Given the description of an element on the screen output the (x, y) to click on. 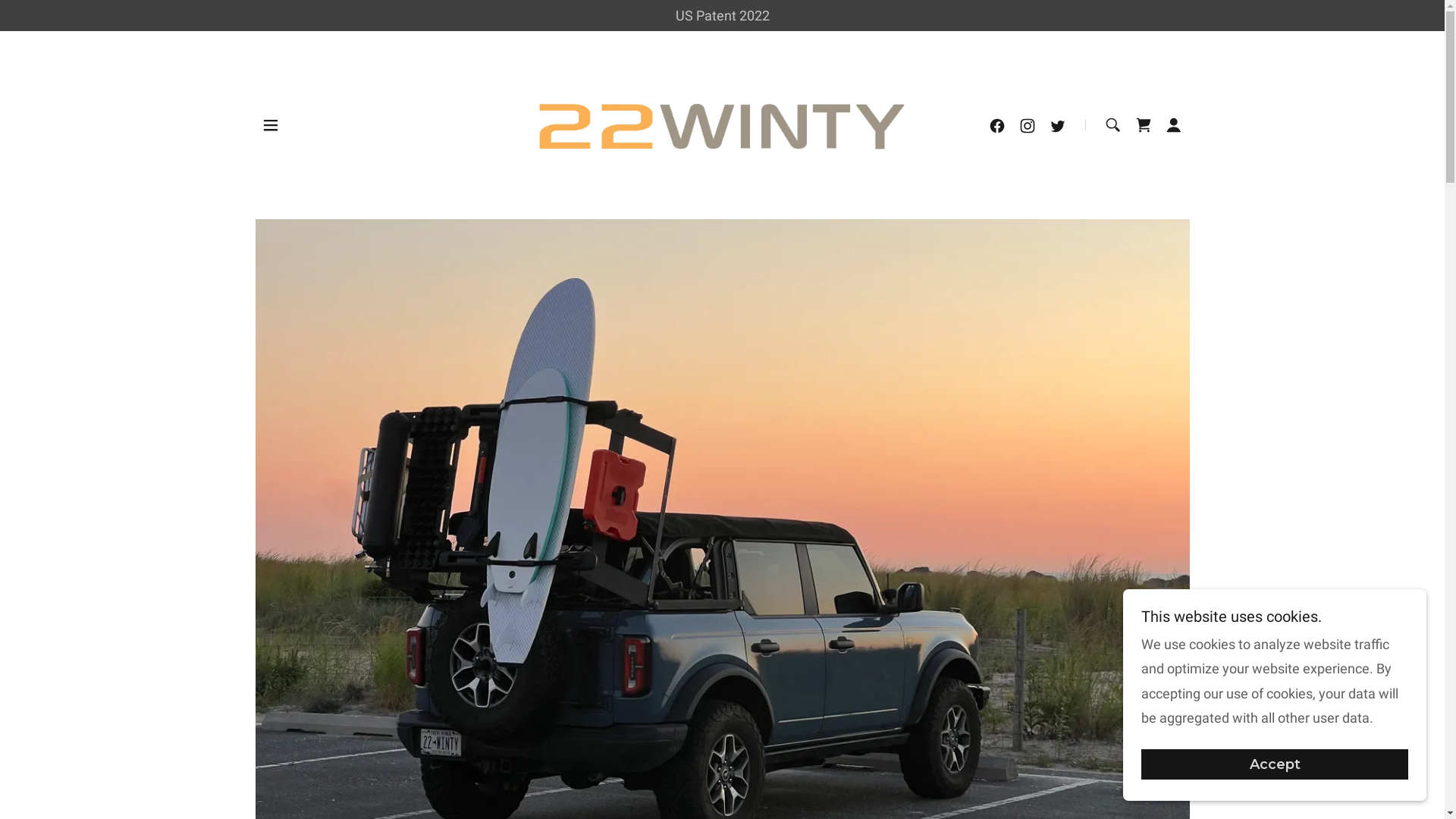
22 WINTY Element type: hover (722, 123)
Accept Element type: text (1274, 764)
US Patent 2022 Element type: text (722, 15)
